Given the description of an element on the screen output the (x, y) to click on. 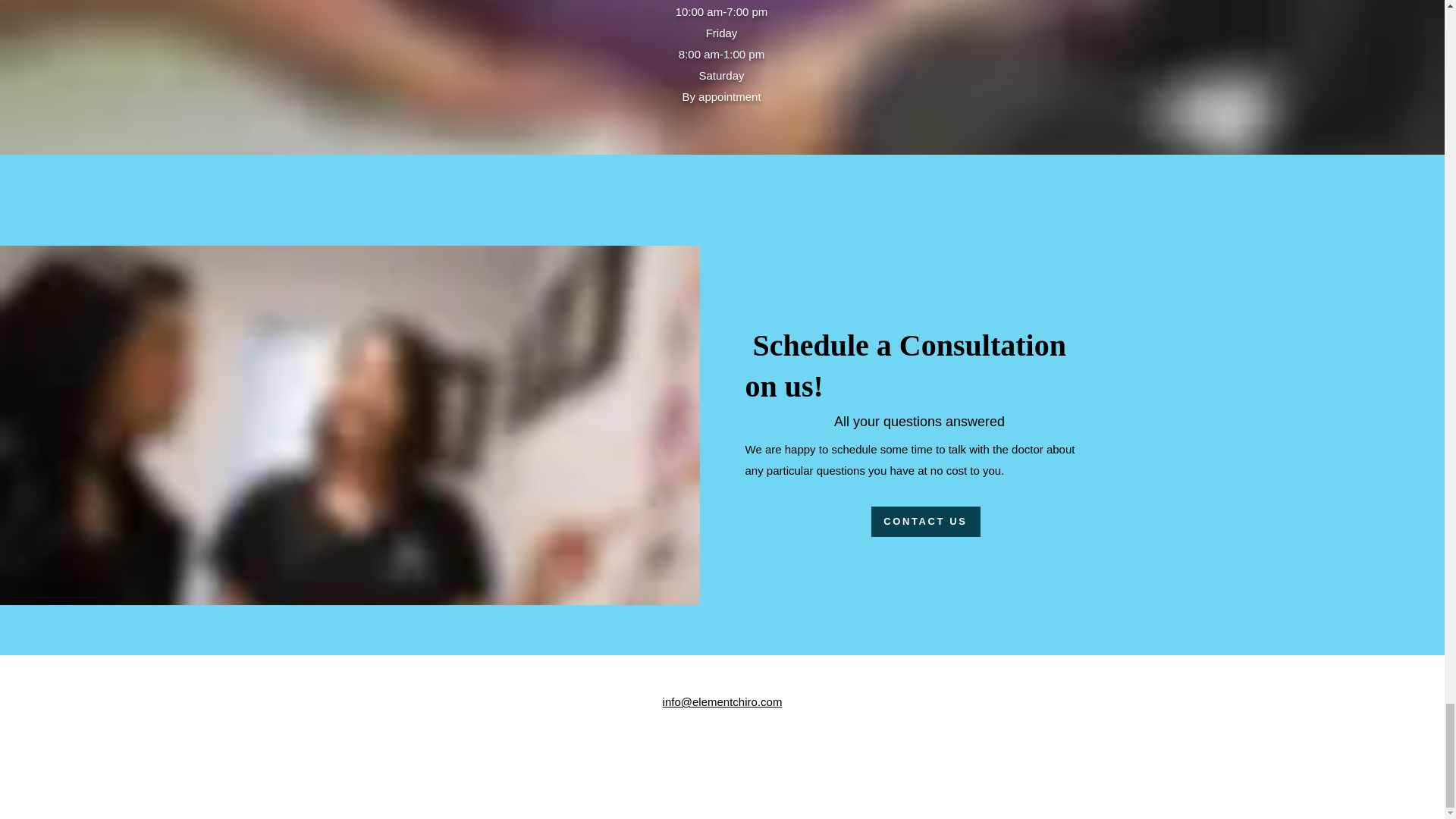
CONTACT US (924, 521)
